Given the description of an element on the screen output the (x, y) to click on. 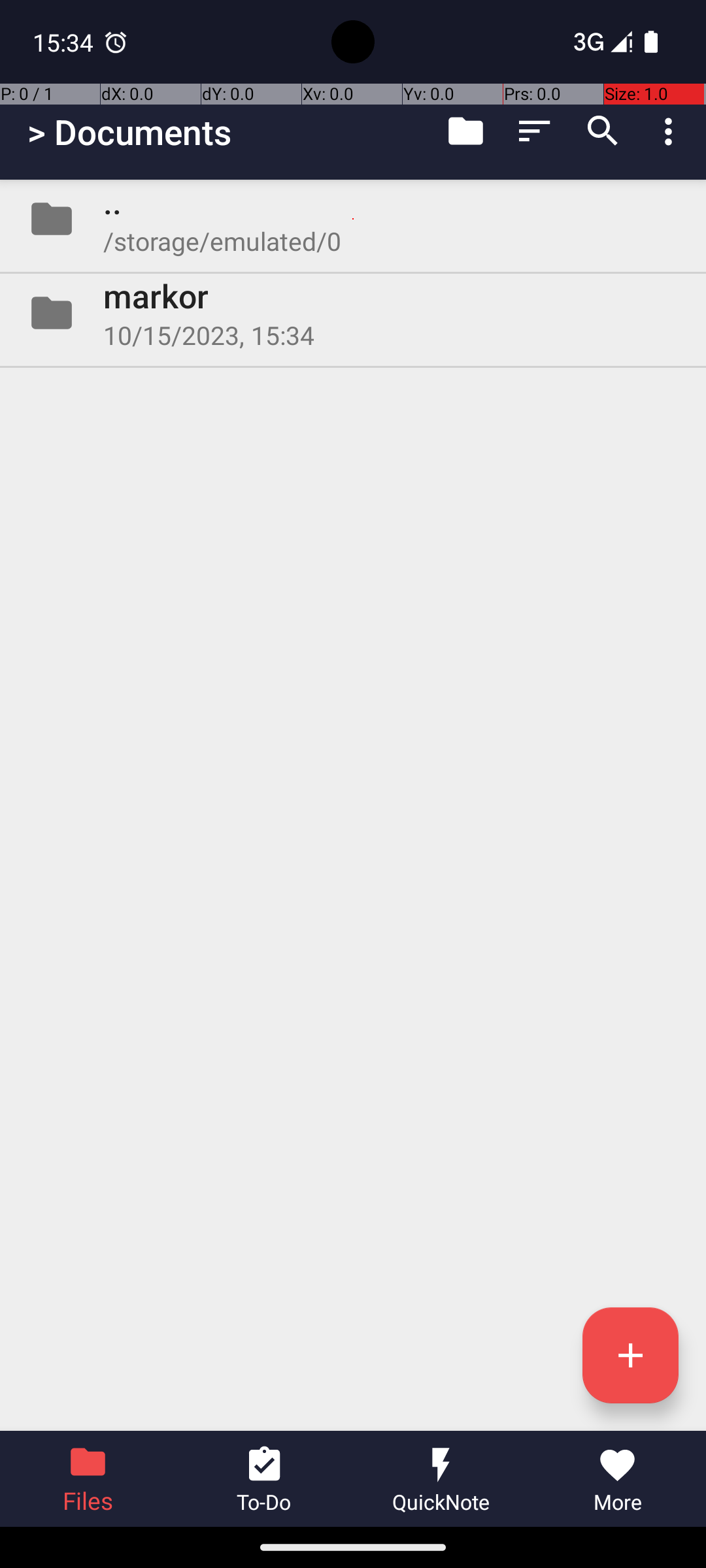
Folder markor 10/15/2023, 15:34 Element type: android.widget.LinearLayout (353, 312)
